Given the description of an element on the screen output the (x, y) to click on. 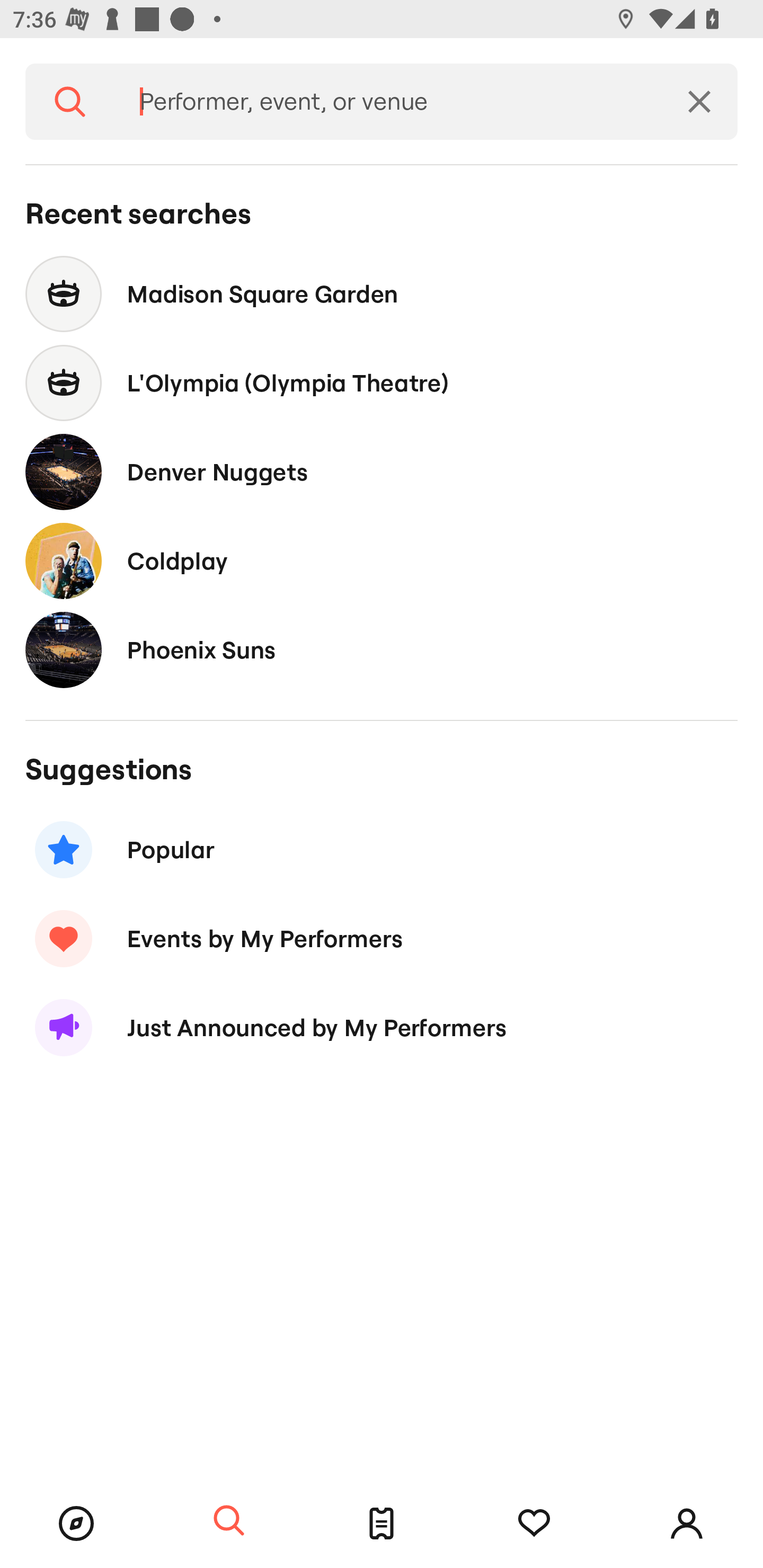
Search (69, 101)
Performer, event, or venue (387, 101)
Clear (699, 101)
Madison Square Garden (381, 293)
L'Olympia (Olympia Theatre) (381, 383)
Denver Nuggets (381, 471)
Coldplay (381, 560)
Phoenix Suns (381, 649)
Popular (381, 849)
Events by My Performers (381, 938)
Just Announced by My Performers (381, 1027)
Browse (76, 1523)
Search (228, 1521)
Tickets (381, 1523)
Tracking (533, 1523)
Account (686, 1523)
